Given the description of an element on the screen output the (x, y) to click on. 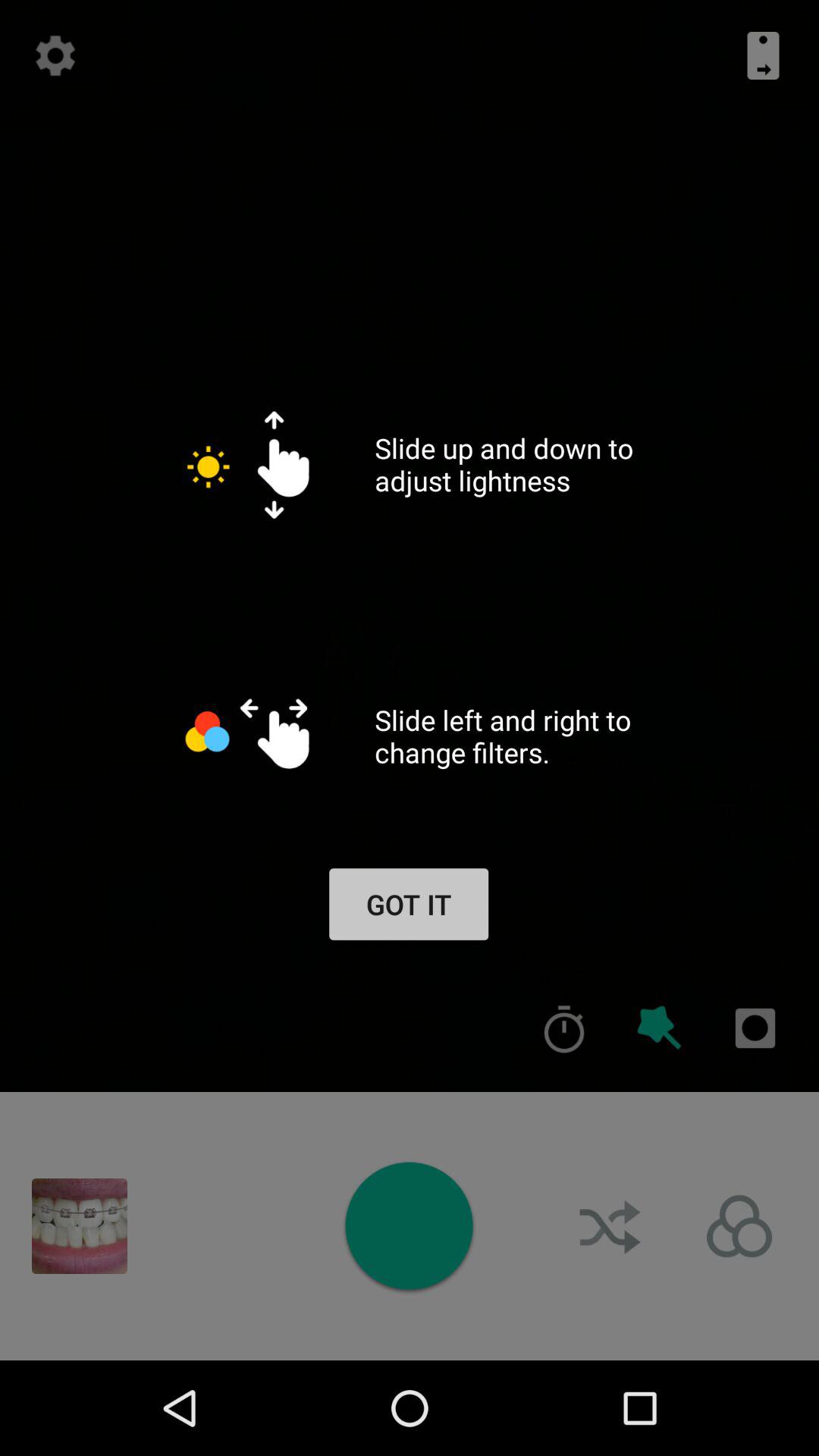
click the item at the bottom left corner (79, 1226)
